Given the description of an element on the screen output the (x, y) to click on. 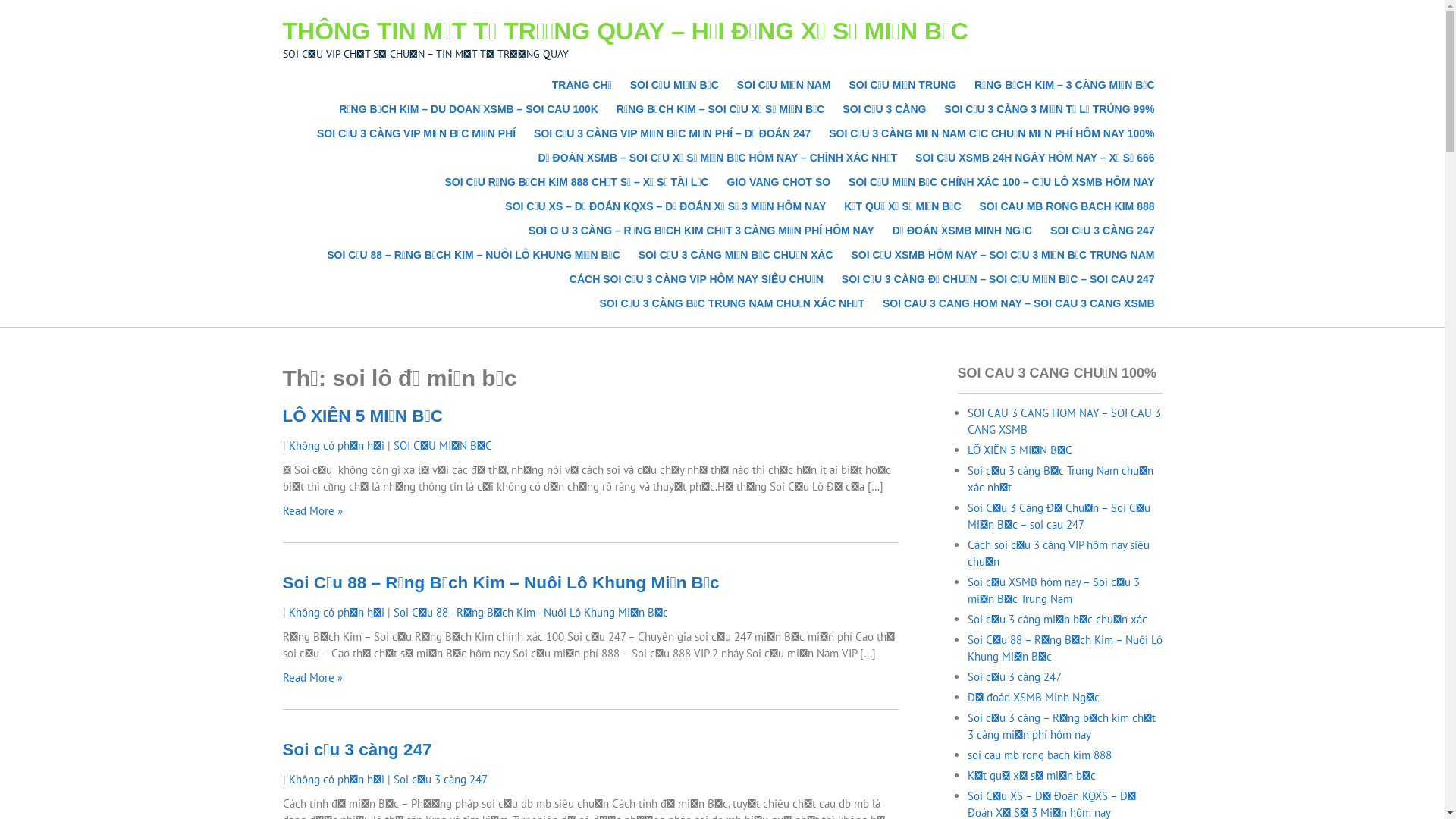
soi cau mb rong bach kim 888 Element type: text (1039, 754)
SOI CAU MB RONG BACH KIM 888 Element type: text (1066, 206)
GIO VANG CHOT SO Element type: text (778, 181)
